Given the description of an element on the screen output the (x, y) to click on. 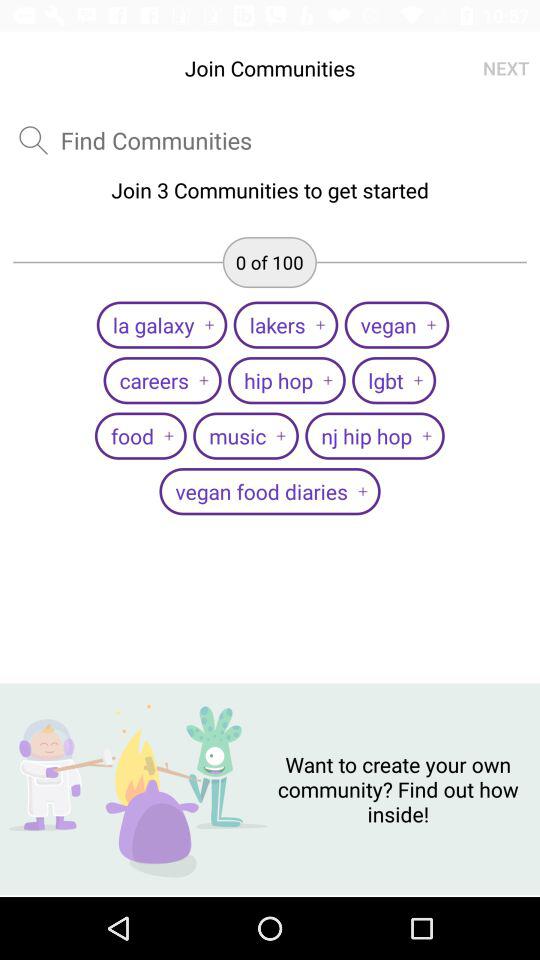
search (33, 140)
